Given the description of an element on the screen output the (x, y) to click on. 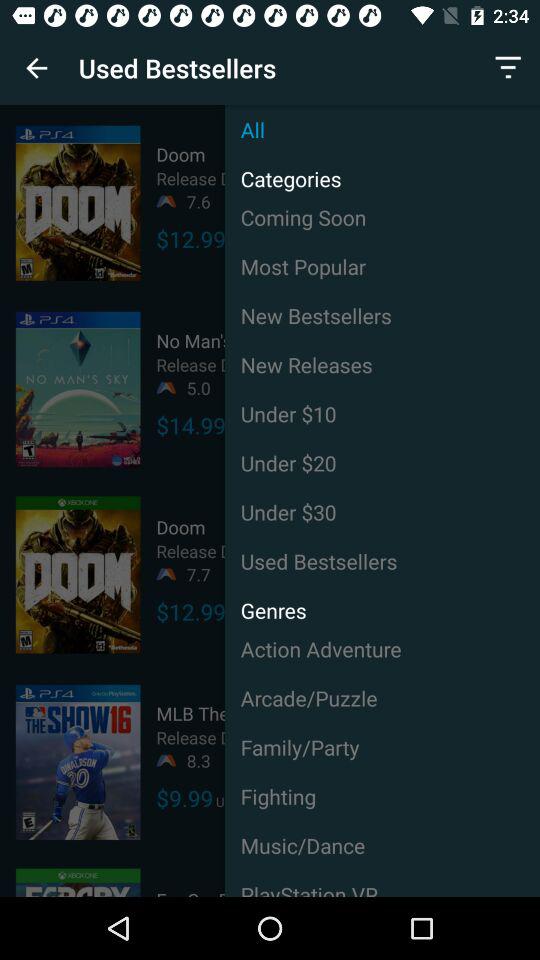
launch all icon (382, 129)
